Given the description of an element on the screen output the (x, y) to click on. 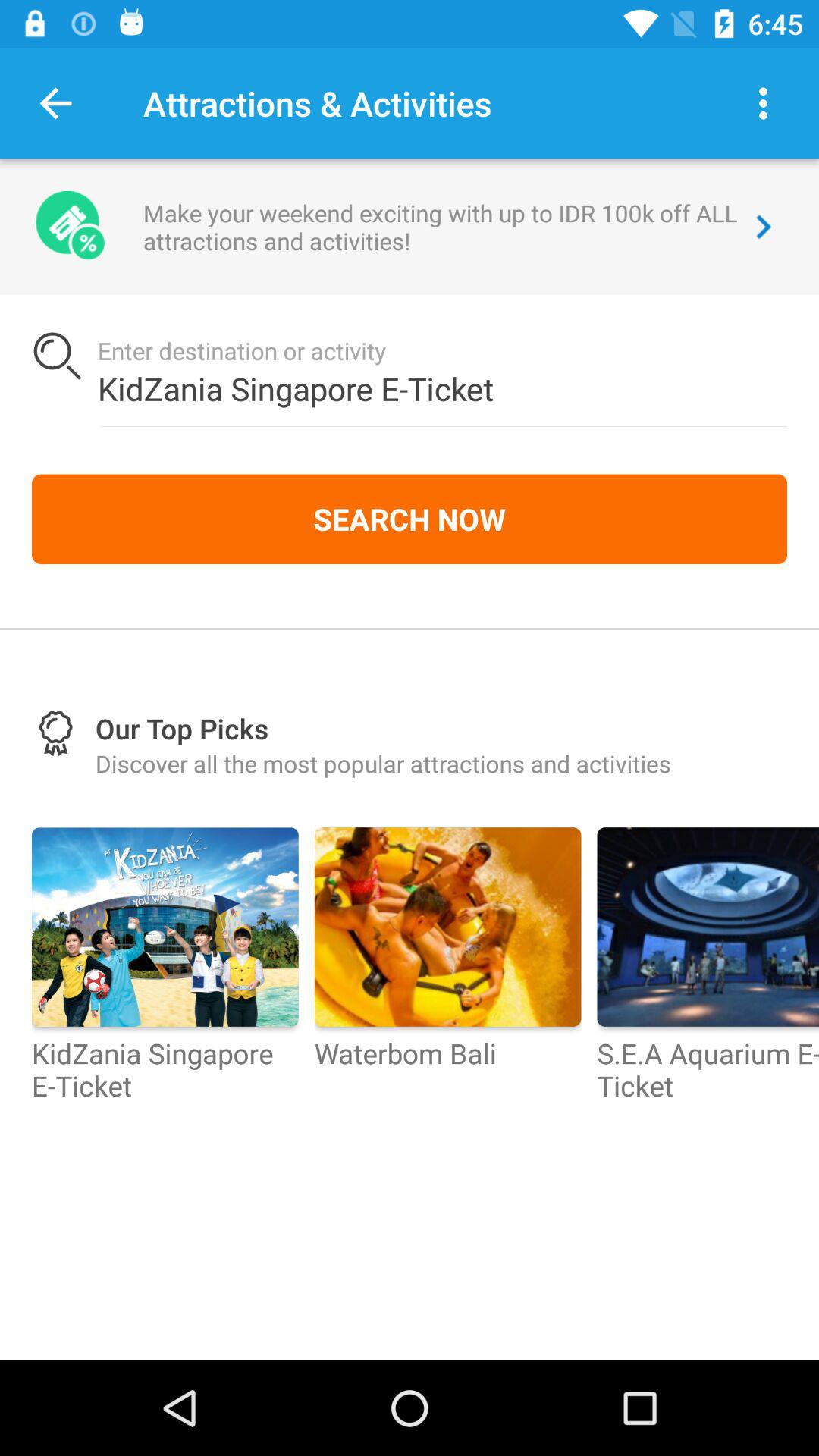
tap the icon above the make your weekend item (763, 103)
